Given the description of an element on the screen output the (x, y) to click on. 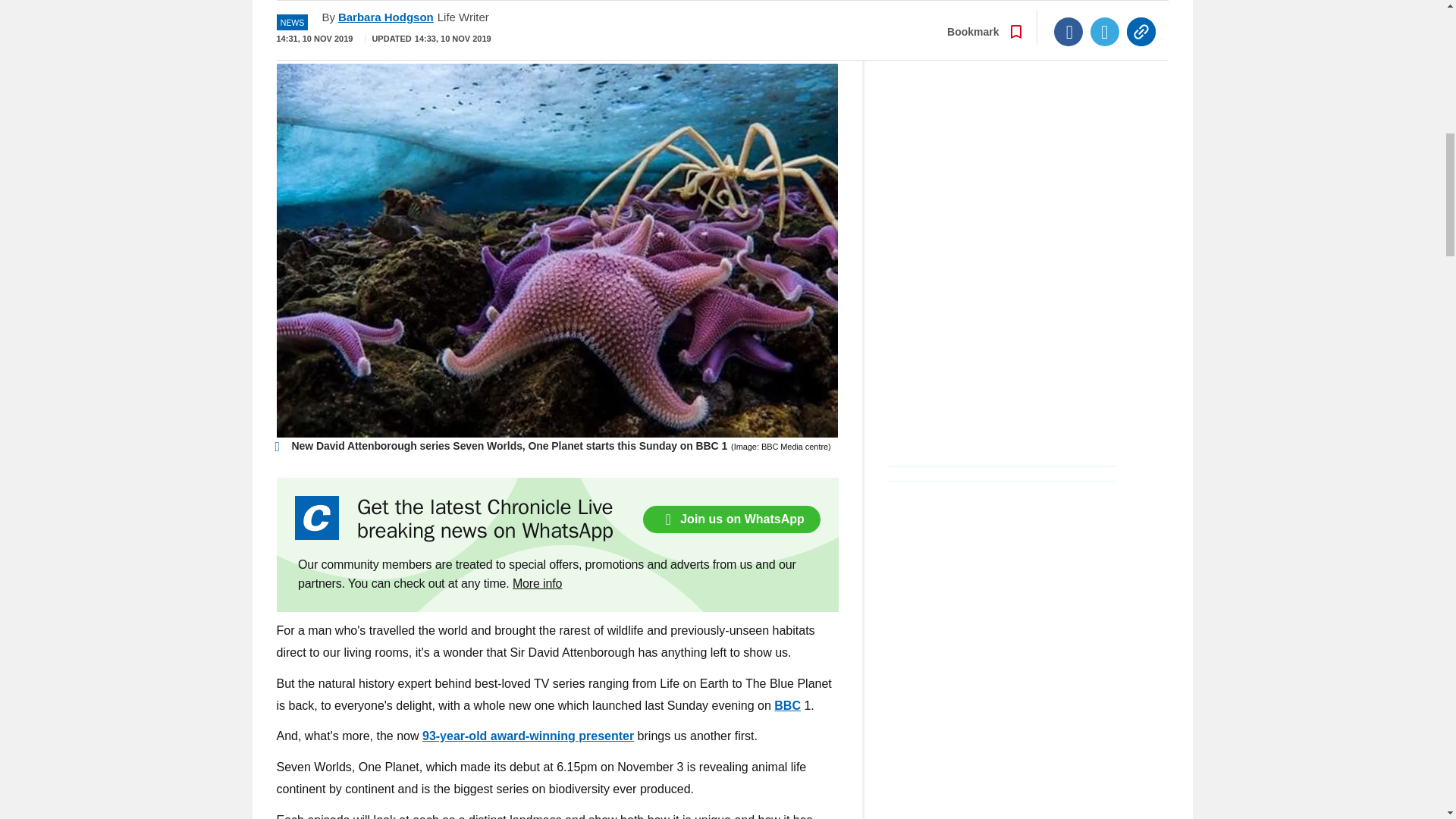
Go (730, 29)
